Given the description of an element on the screen output the (x, y) to click on. 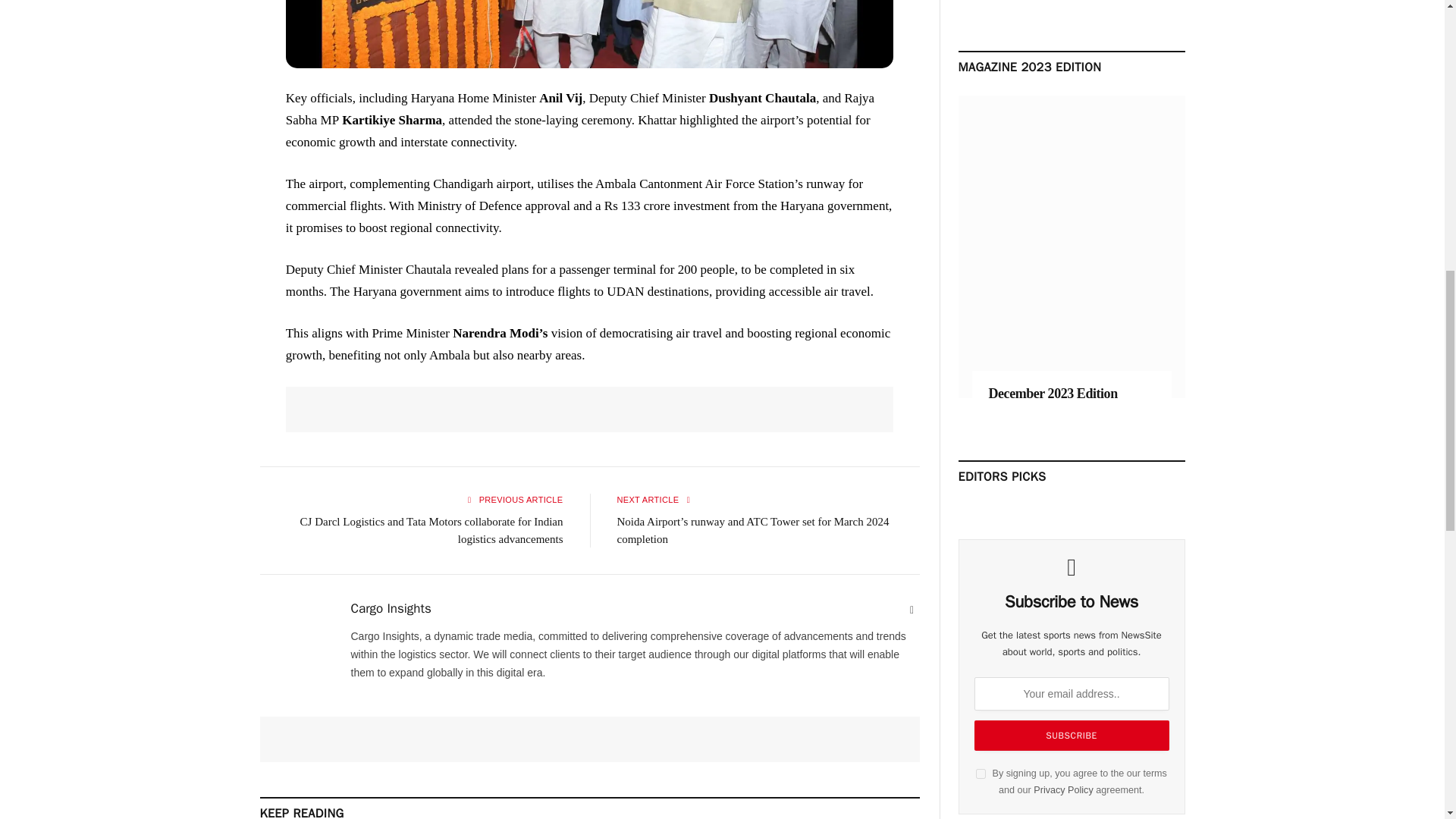
Subscribe (1071, 735)
on (980, 773)
